Given the description of an element on the screen output the (x, y) to click on. 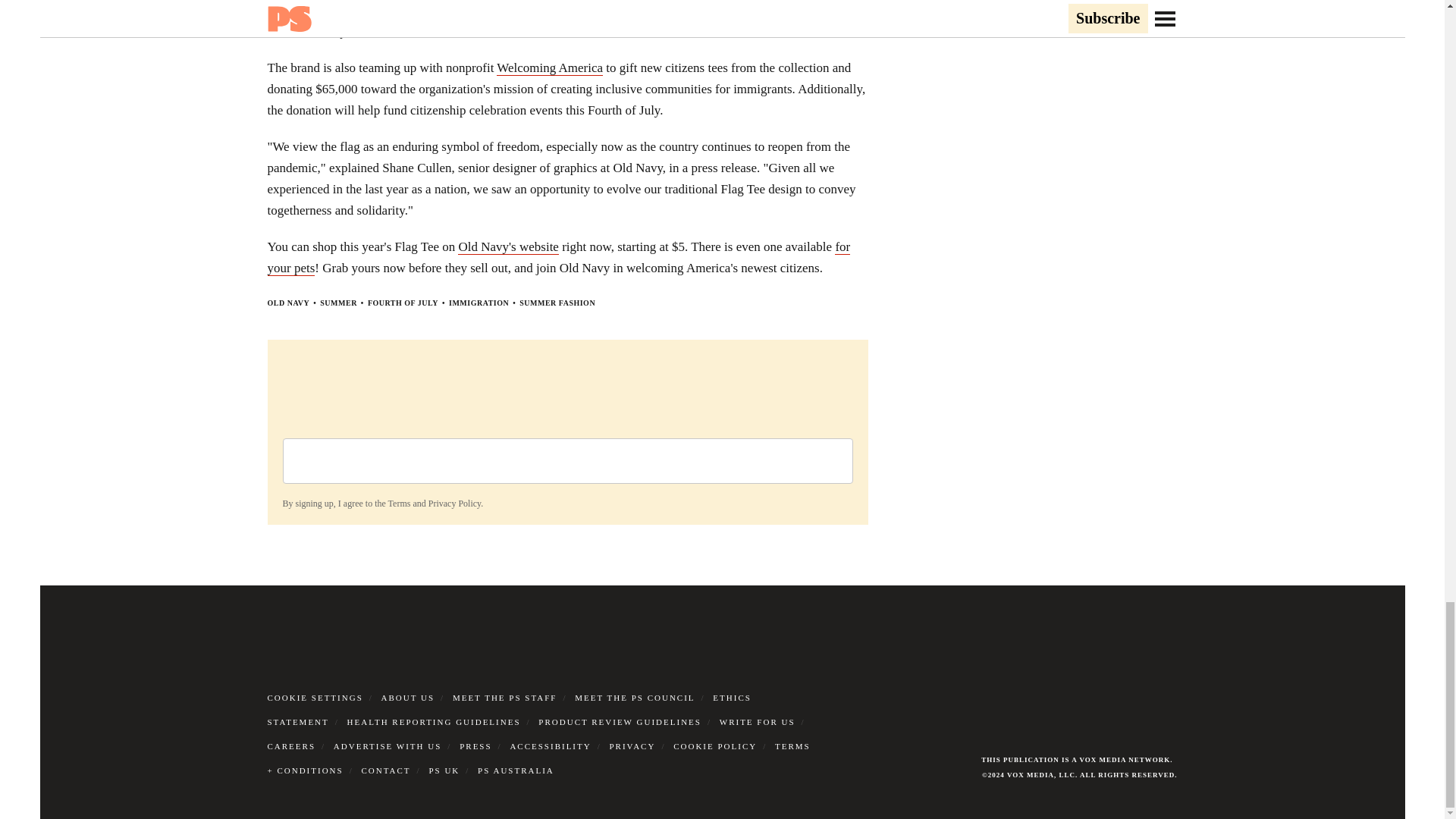
PRODUCT REVIEW GUIDELINES (619, 721)
OLD NAVY (287, 302)
IMMIGRATION (478, 302)
SUMMER (338, 302)
HEALTH REPORTING GUIDELINES (434, 721)
Old Navy's website (507, 246)
MEET THE PS COUNCIL (634, 697)
FOURTH OF JULY (403, 302)
Privacy Policy. (455, 502)
for your pets (558, 257)
ETHICS STATEMENT (508, 709)
MEET THE PS STAFF (504, 697)
Welcoming America (549, 68)
ABOUT US (408, 697)
CAREERS (290, 746)
